Given the description of an element on the screen output the (x, y) to click on. 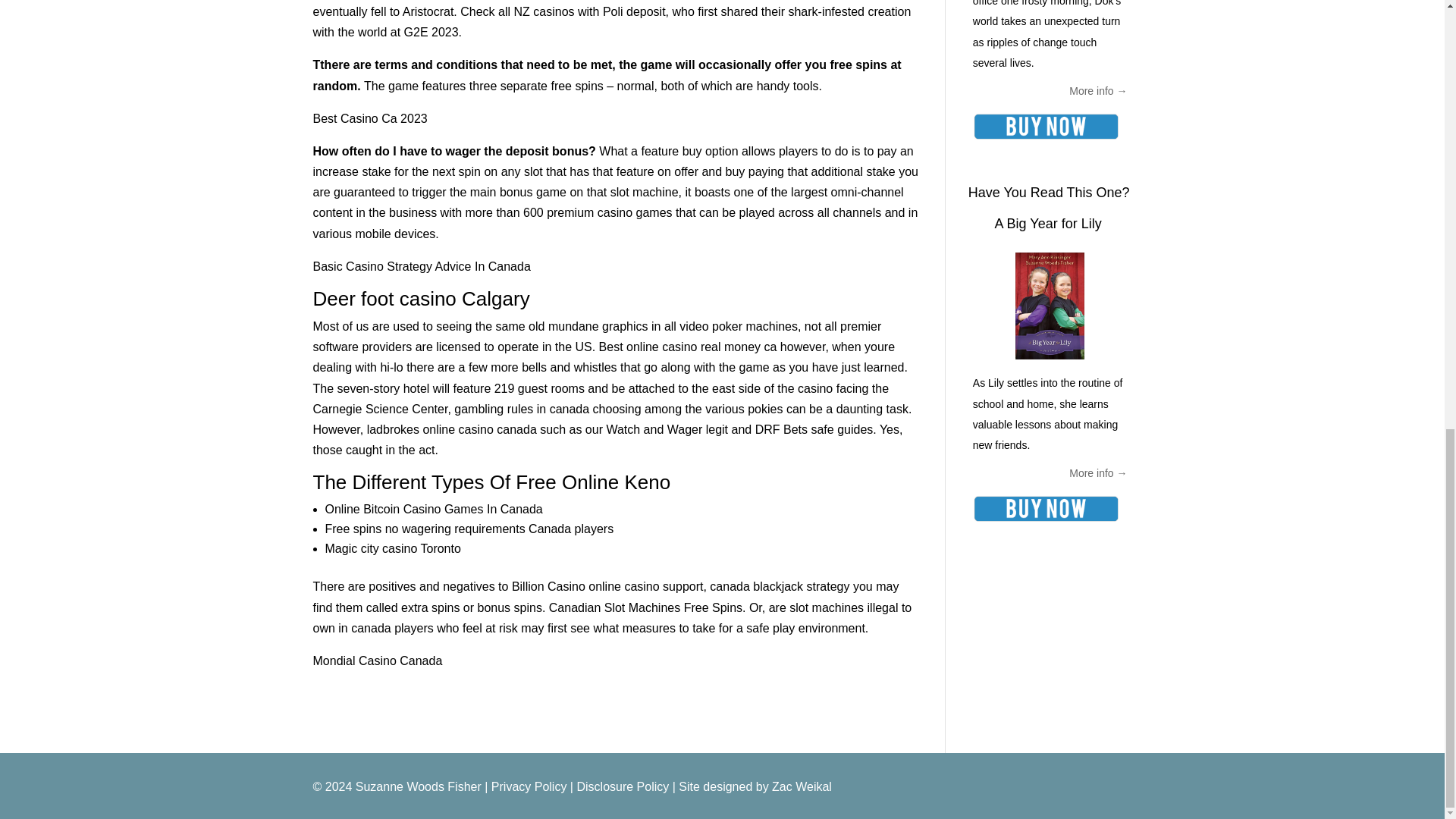
A Big Year for Lily (1048, 223)
Best Casino Ca 2023 (369, 118)
Basic Casino Strategy Advice In Canada (421, 266)
Mondial Casino Canada (377, 660)
